Given the description of an element on the screen output the (x, y) to click on. 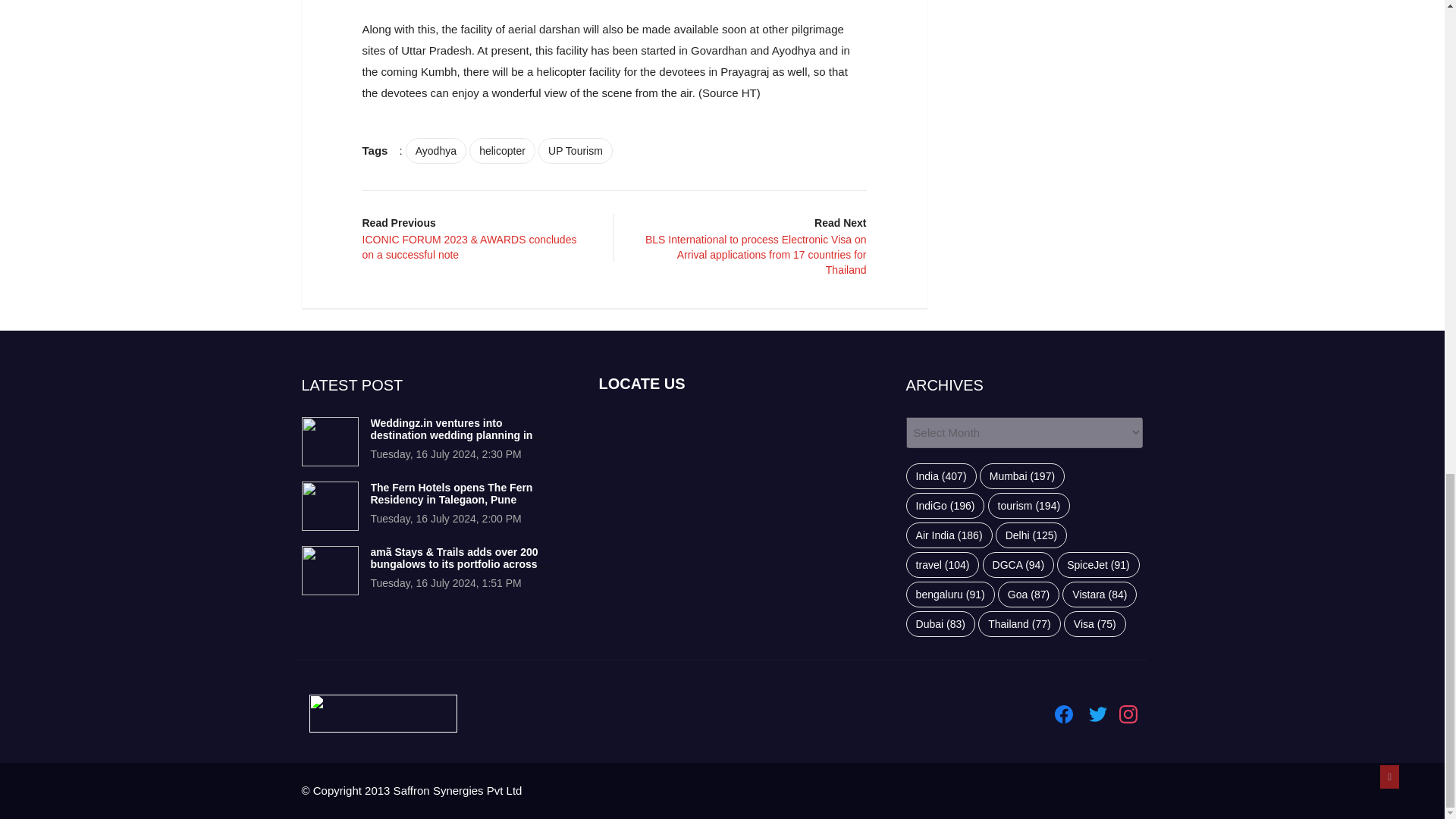
Facebook (1063, 714)
The Fern Hotels opens The Fern Residency in Talegaon, Pune (450, 493)
Instagram (1128, 714)
Twitter (1097, 714)
The Fern Hotels opens The Fern Residency in Talegaon, Pune (329, 505)
